Given the description of an element on the screen output the (x, y) to click on. 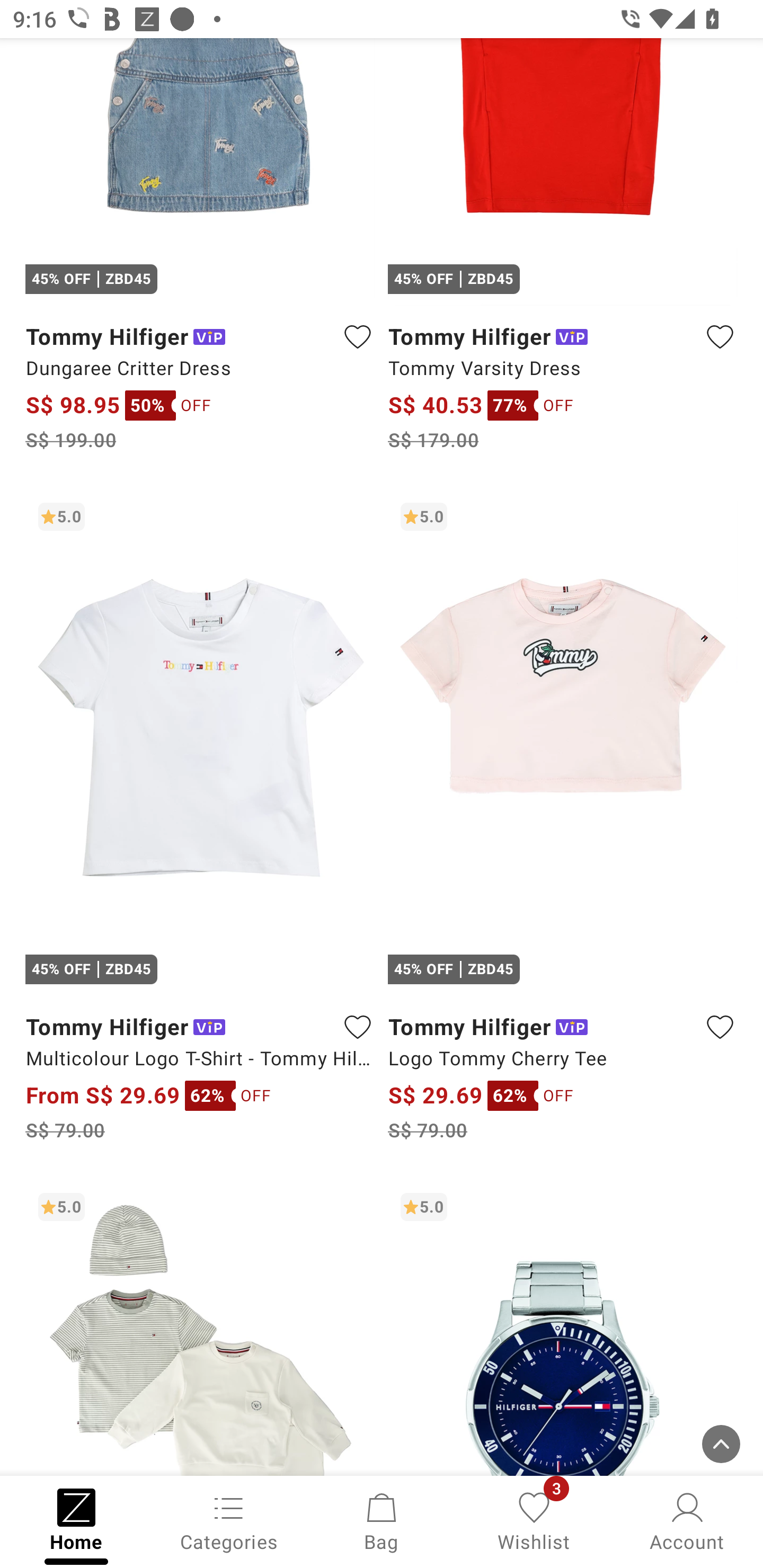
5.0 (200, 1327)
5.0 (562, 1327)
Categories (228, 1519)
Bag (381, 1519)
Wishlist, 3 new notifications Wishlist (533, 1519)
Account (686, 1519)
